Given the description of an element on the screen output the (x, y) to click on. 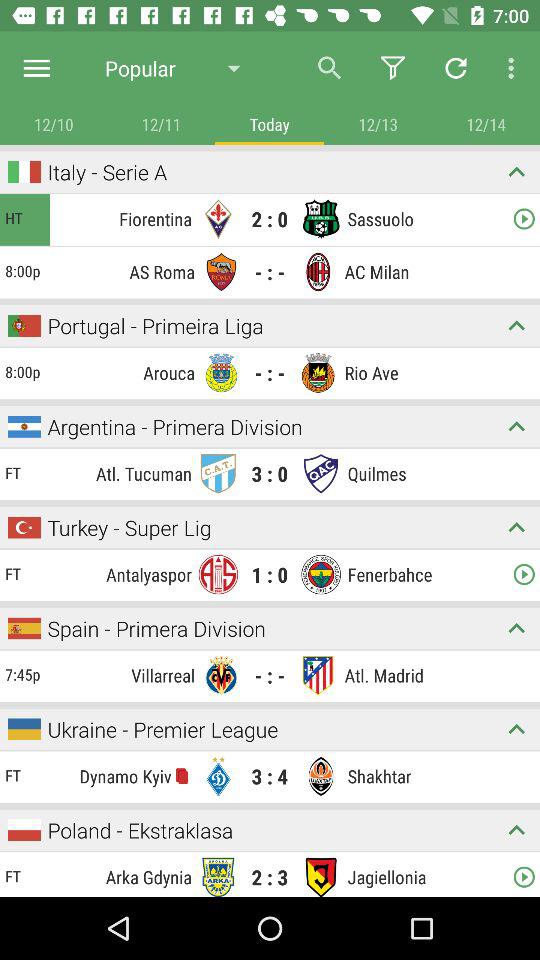
expand selection (516, 527)
